Given the description of an element on the screen output the (x, y) to click on. 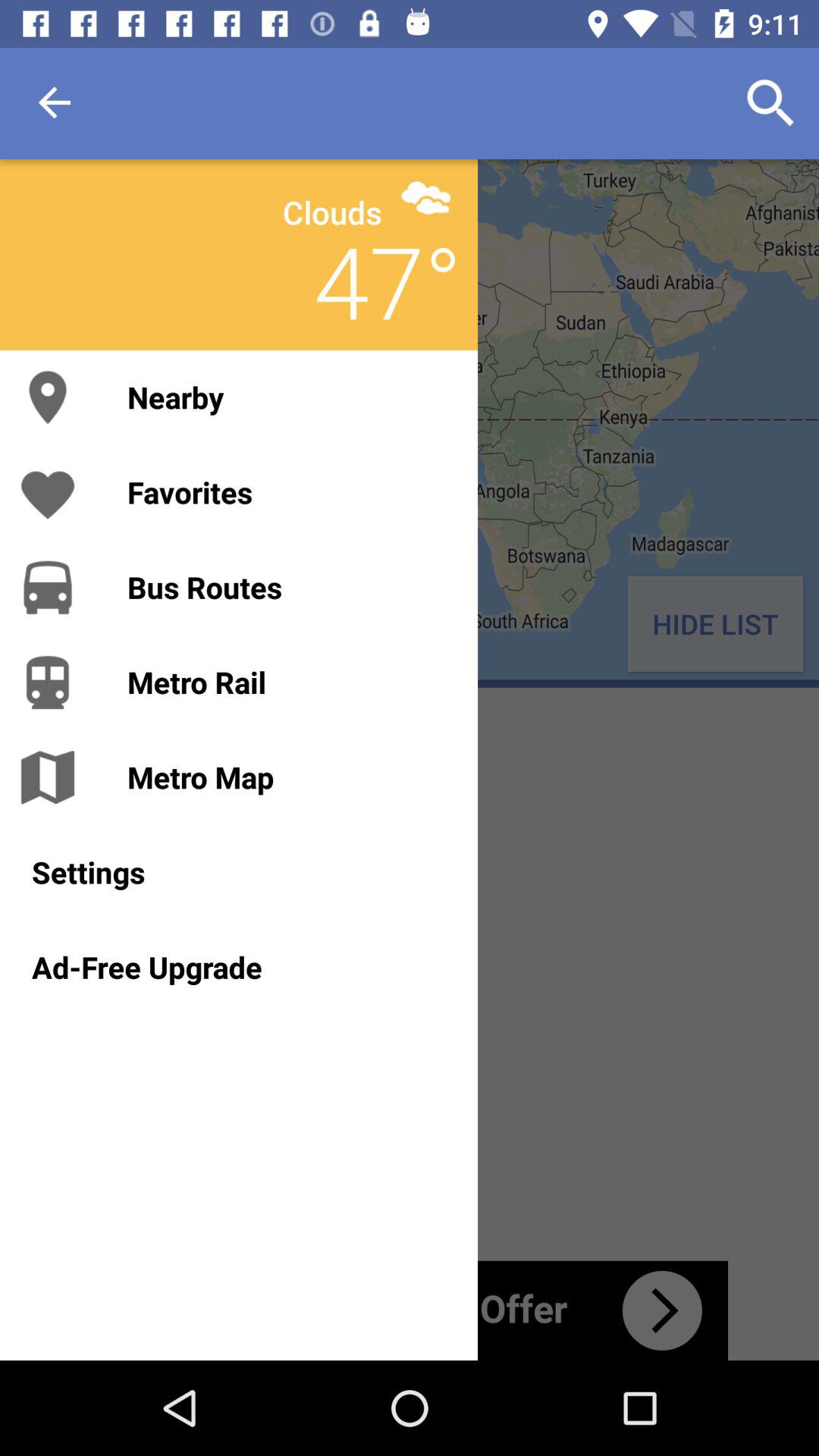
launch icon next to the clouds (425, 197)
